Given the description of an element on the screen output the (x, y) to click on. 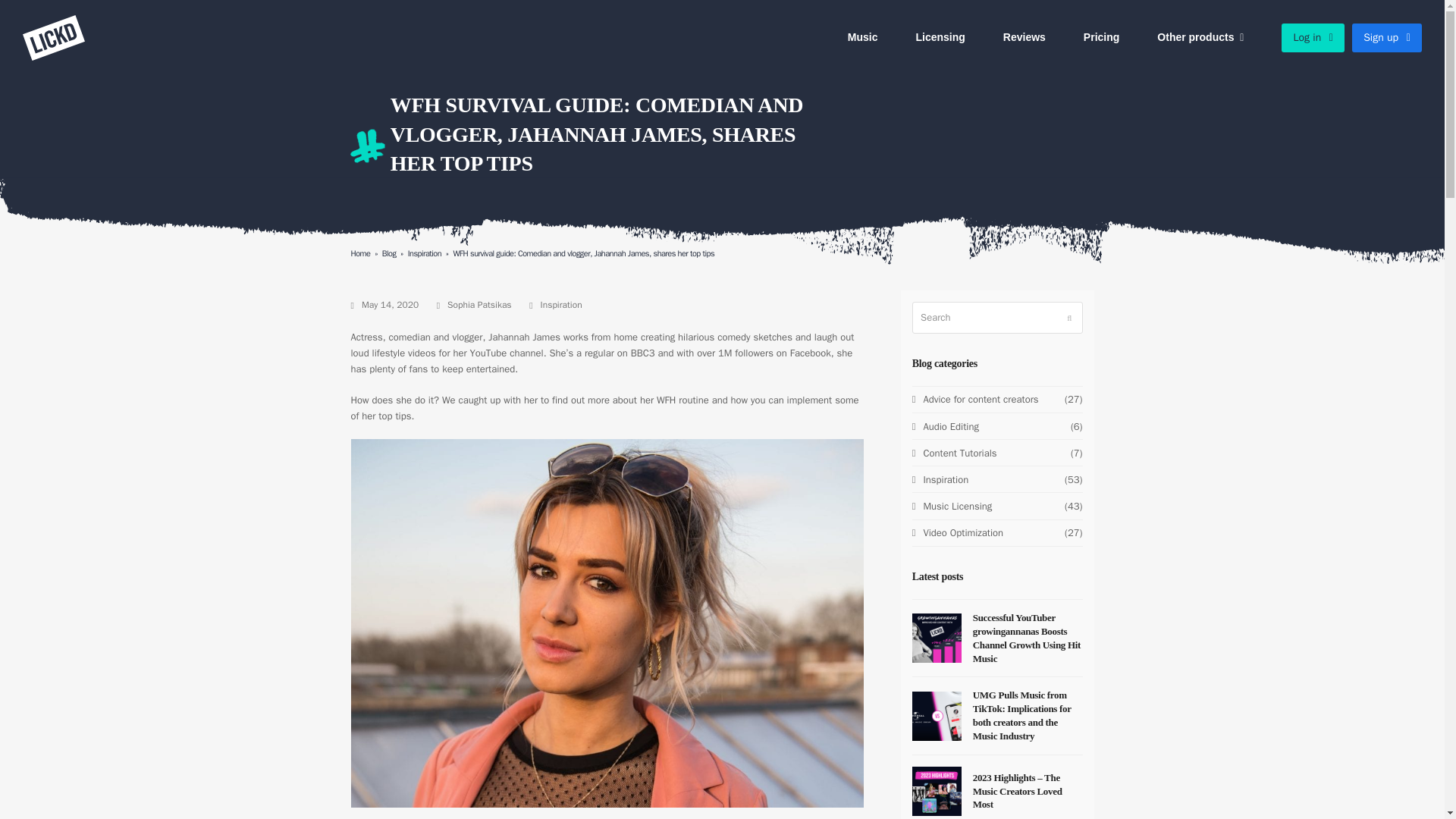
Inspiration (424, 252)
Video Optimization (957, 532)
Pricing (1101, 37)
Log in (1312, 37)
Advice for content creators (975, 399)
Other products (1200, 37)
Audio Editing (945, 426)
Blog (388, 252)
Inspiration (561, 304)
